Given the description of an element on the screen output the (x, y) to click on. 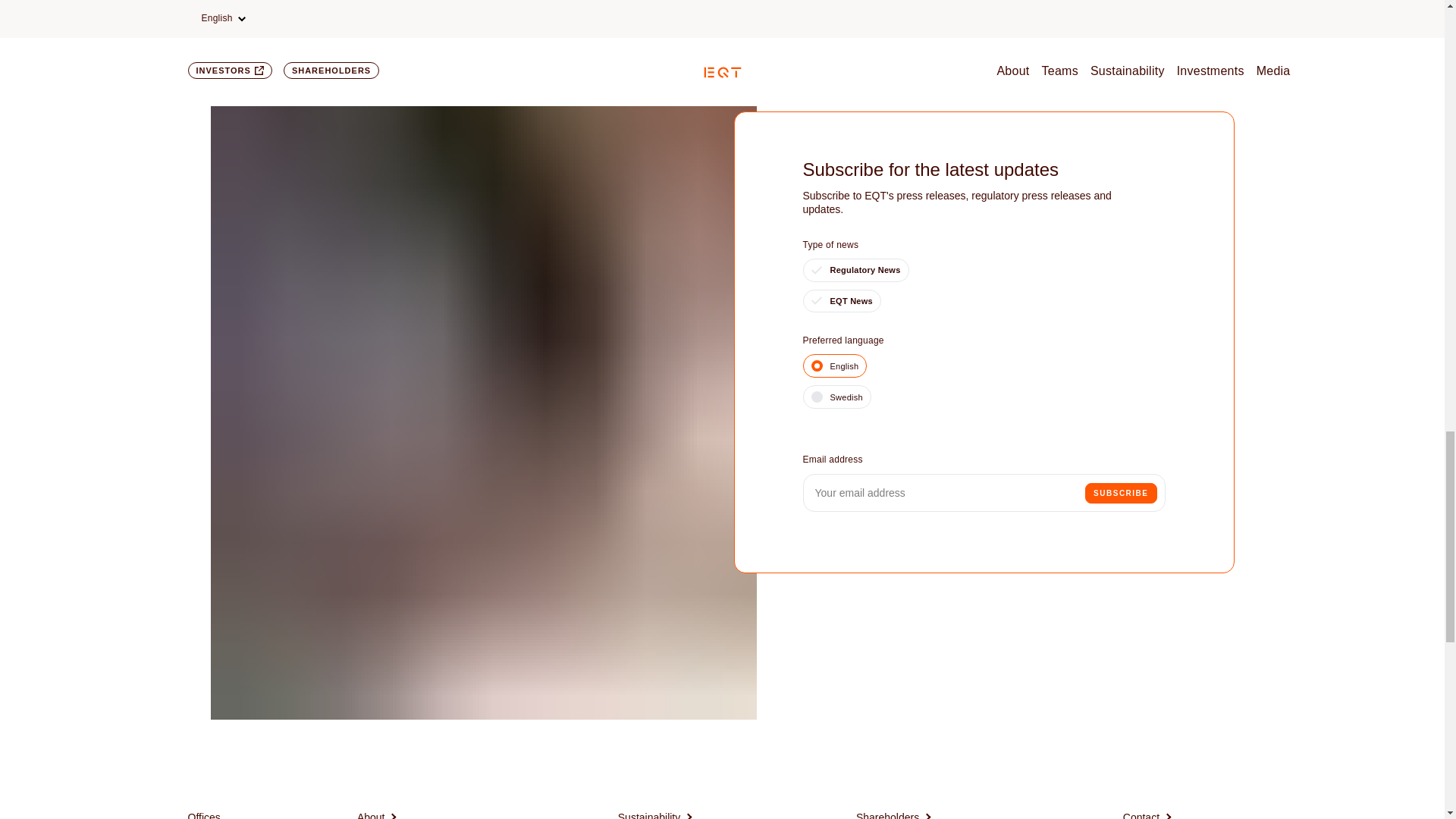
Swedish (836, 396)
English (834, 365)
SUBSCRIBE (1120, 493)
